Given the description of an element on the screen output the (x, y) to click on. 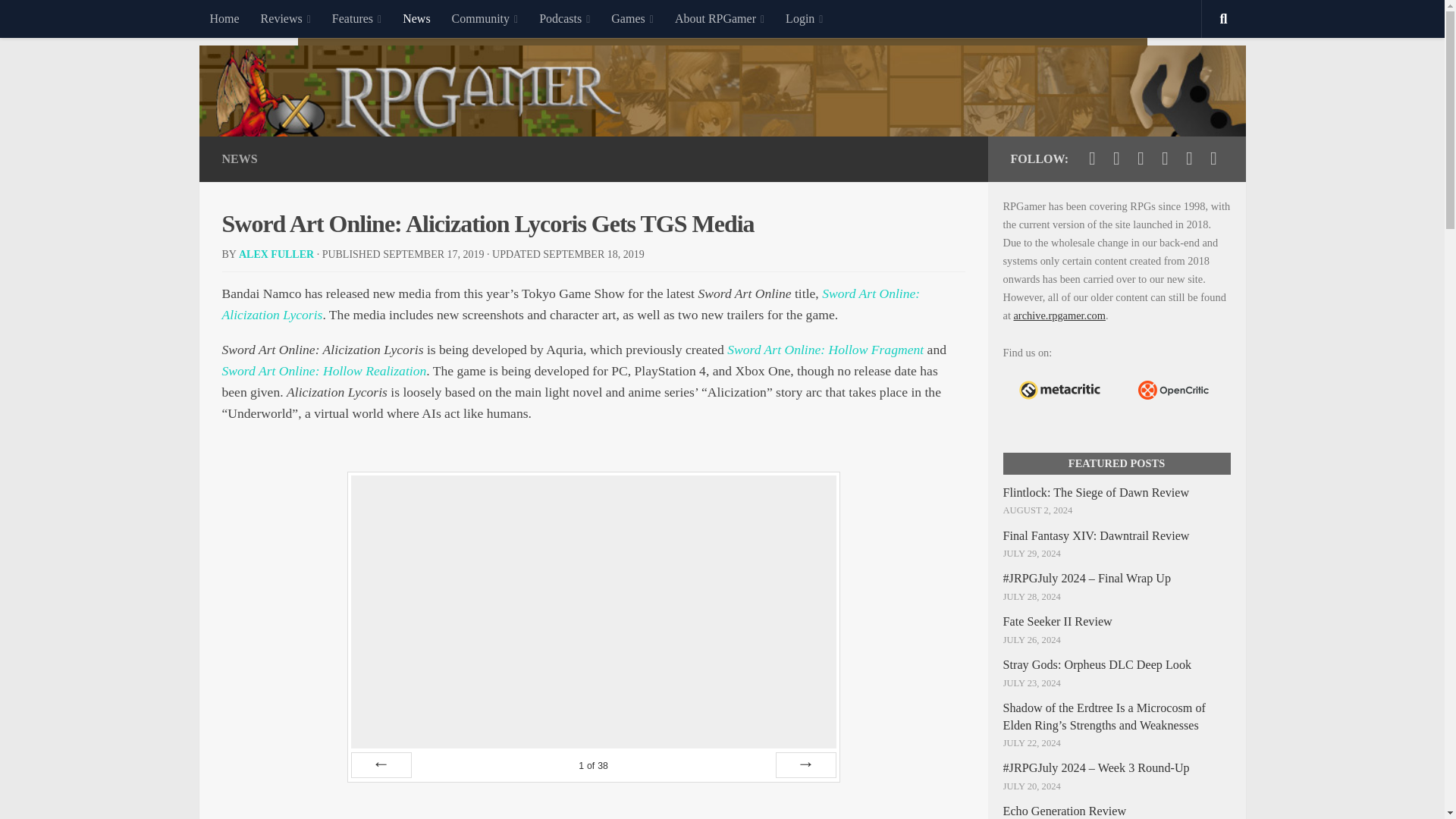
Follow us on Rss (1213, 158)
Follow us on Youtube (1140, 158)
Follow us on Facebook (1115, 158)
Skip to content (59, 20)
Follow us on Twitch (1164, 158)
Follow us on Twitter (1091, 158)
Follow us on Discord (1188, 158)
Posts by Alex Fuller (276, 254)
